Given the description of an element on the screen output the (x, y) to click on. 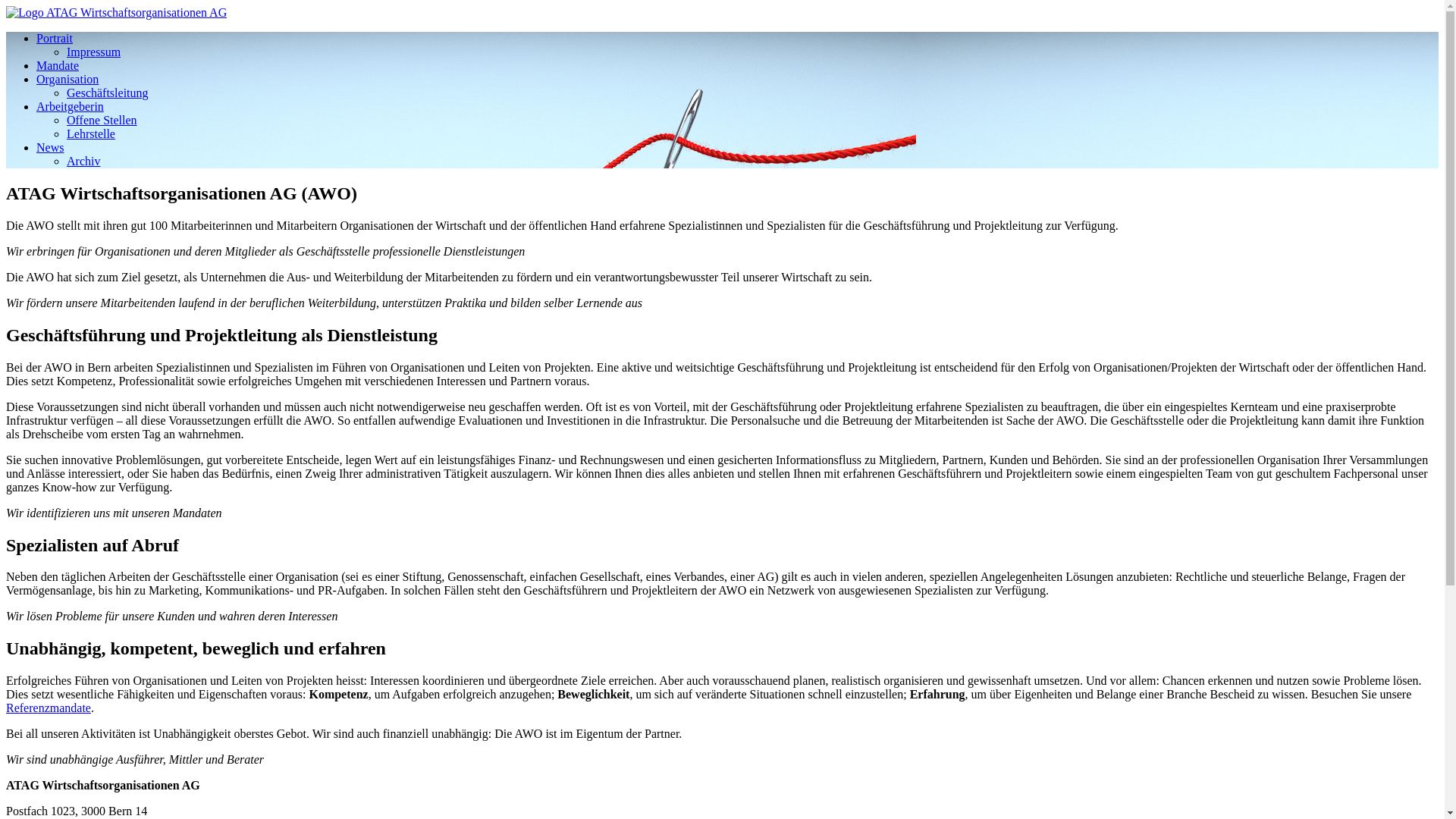
Referenzmandate Element type: text (48, 707)
Lehrstelle Element type: text (90, 133)
Impressum Element type: text (93, 51)
Offene Stellen Element type: text (101, 119)
News Element type: text (49, 147)
Arbeitgeberin Element type: text (69, 106)
Mandate Element type: text (57, 65)
Organisation Element type: text (67, 78)
Portrait Element type: text (54, 37)
Archiv Element type: text (83, 160)
